Given the description of an element on the screen output the (x, y) to click on. 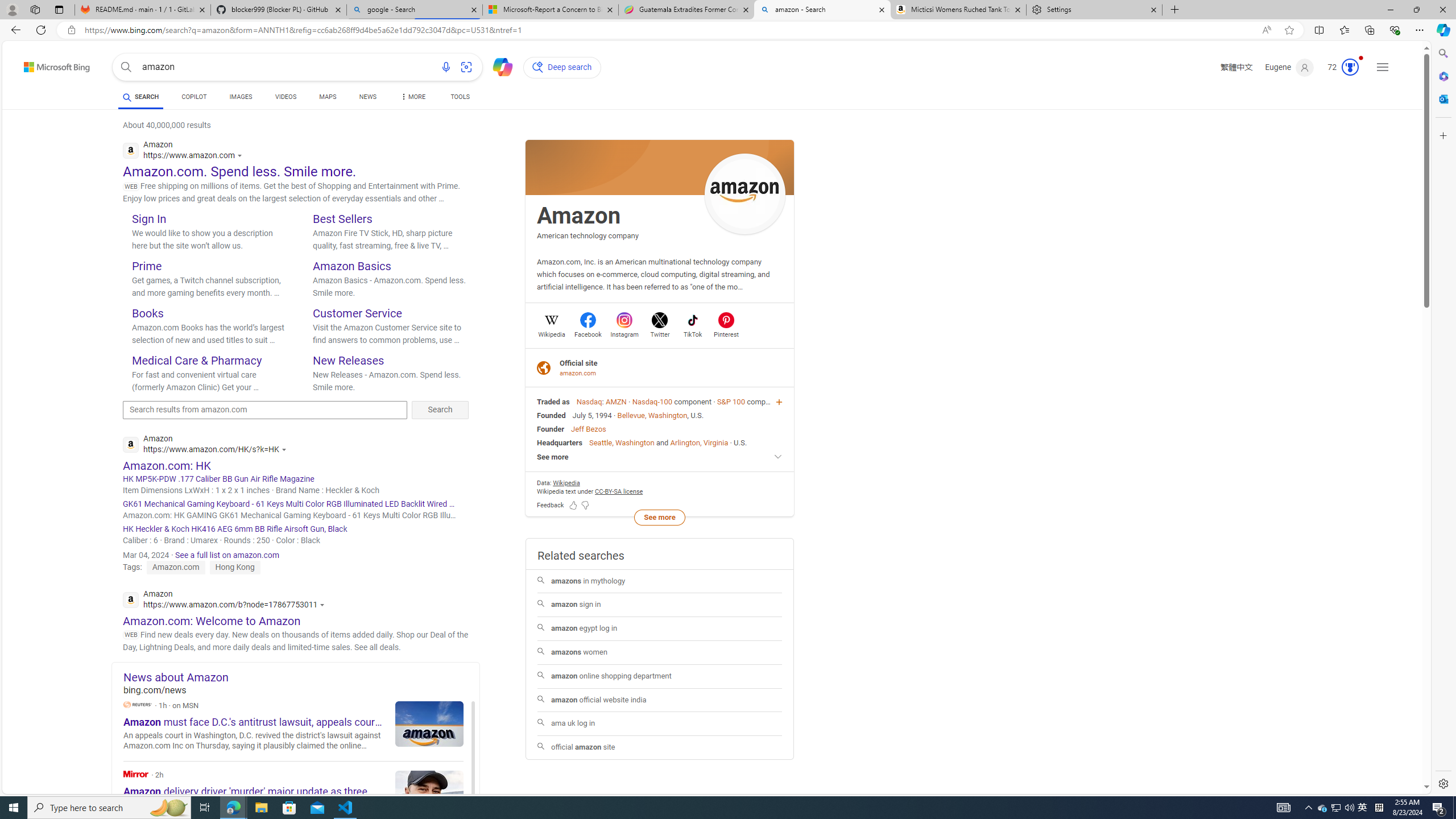
American technology company (588, 235)
The Mirror (135, 773)
Search using voice (445, 66)
AMZN (615, 401)
Nasdaq (589, 401)
Jeff Bezos (587, 429)
amazon egypt log in (659, 628)
amazon sign in (659, 604)
Pinterest (726, 333)
amazons women (659, 652)
